Given the description of an element on the screen output the (x, y) to click on. 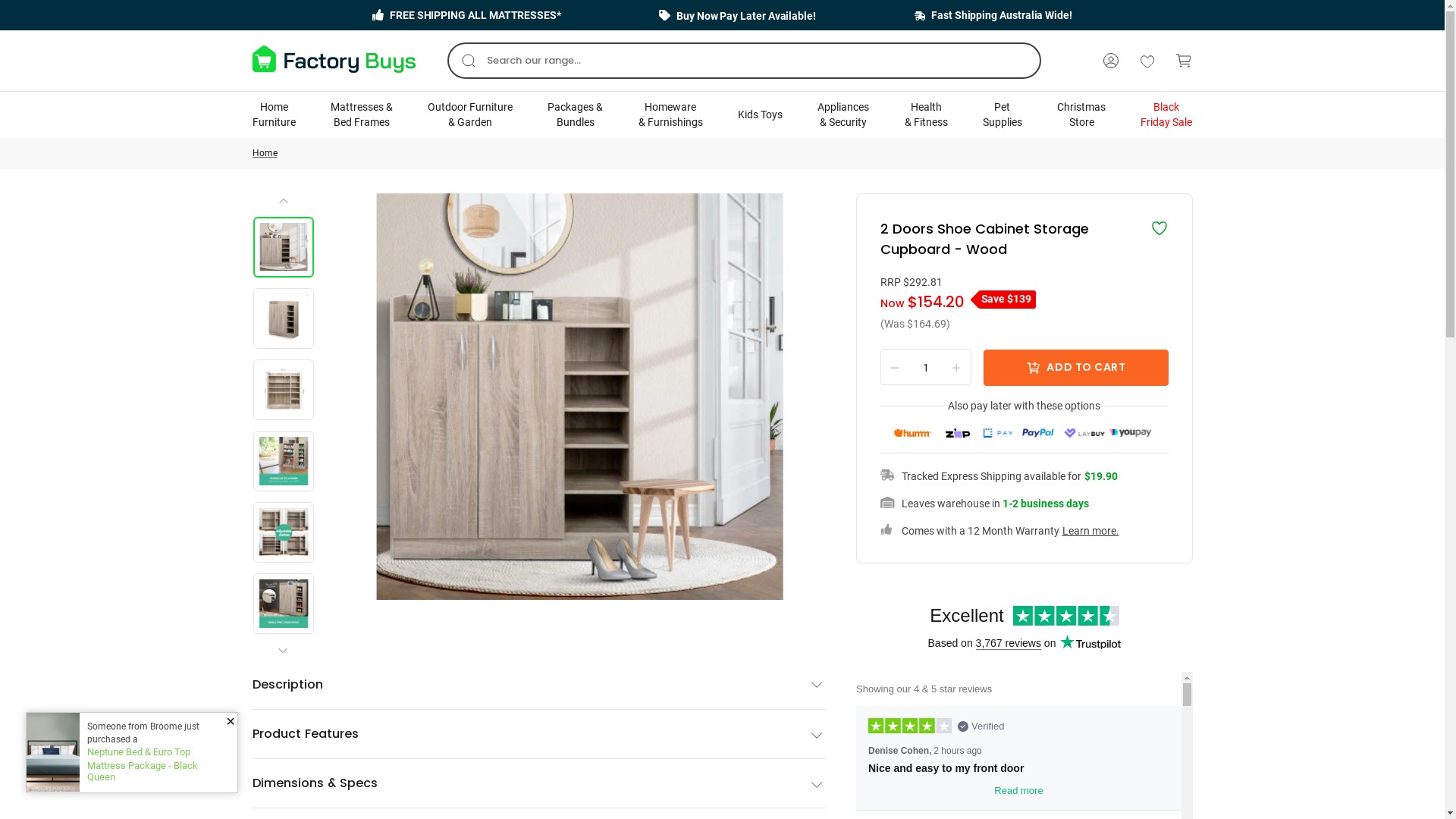
Mattresses &
Bed Frames Element type: text (361, 114)
Outdoor Furniture
& Garden Element type: text (469, 114)
Appliances
& Security Element type: text (843, 114)
Previous Element type: text (283, 205)
SKIP TO PRODUCT INFORMATION Element type: text (378, 210)
Log in Element type: text (1110, 60)
Cart Element type: text (1182, 60)
Next Element type: text (284, 637)
Home
Furniture Element type: text (272, 114)
Fast Shipping Australia Wide! Element type: text (992, 14)
Black
Friday Sale Element type: text (1166, 114)
Homeware
& Furnishings Element type: text (670, 114)
ADD TO CART Element type: text (1074, 367)
FREE SHIPPING ALL MATTRESSES* Element type: text (466, 14)
Kids Toys Element type: text (759, 114)
Buy Now Pay Later Available! Element type: text (736, 15)
Health
& Fitness Element type: text (925, 114)
Packages &
Bundles Element type: text (574, 114)
Pet
Supplies Element type: text (1002, 114)
Christmas
Store Element type: text (1081, 114)
Home Element type: text (263, 153)
